Given the description of an element on the screen output the (x, y) to click on. 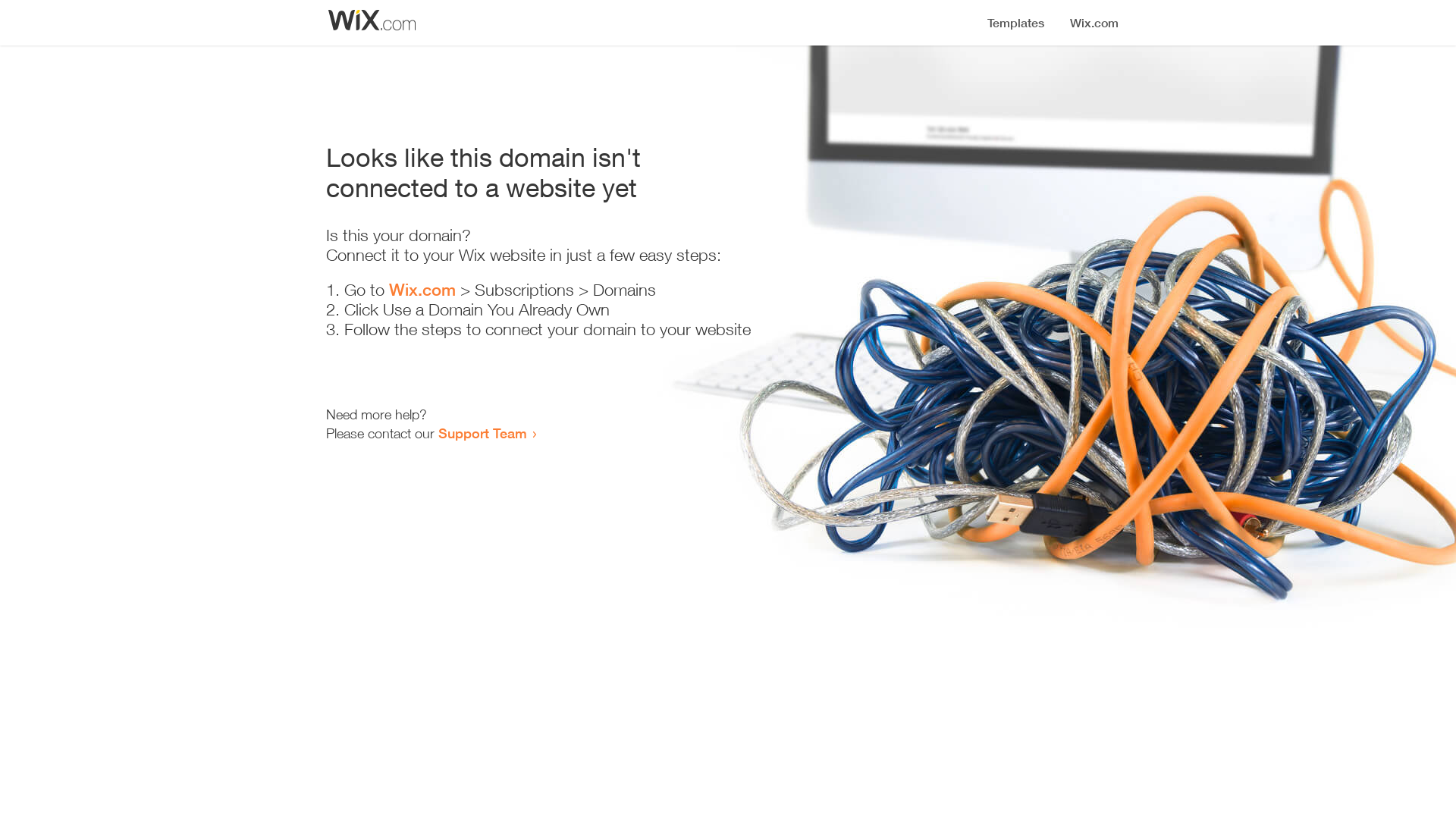
Support Team Element type: text (482, 432)
Wix.com Element type: text (422, 289)
